Given the description of an element on the screen output the (x, y) to click on. 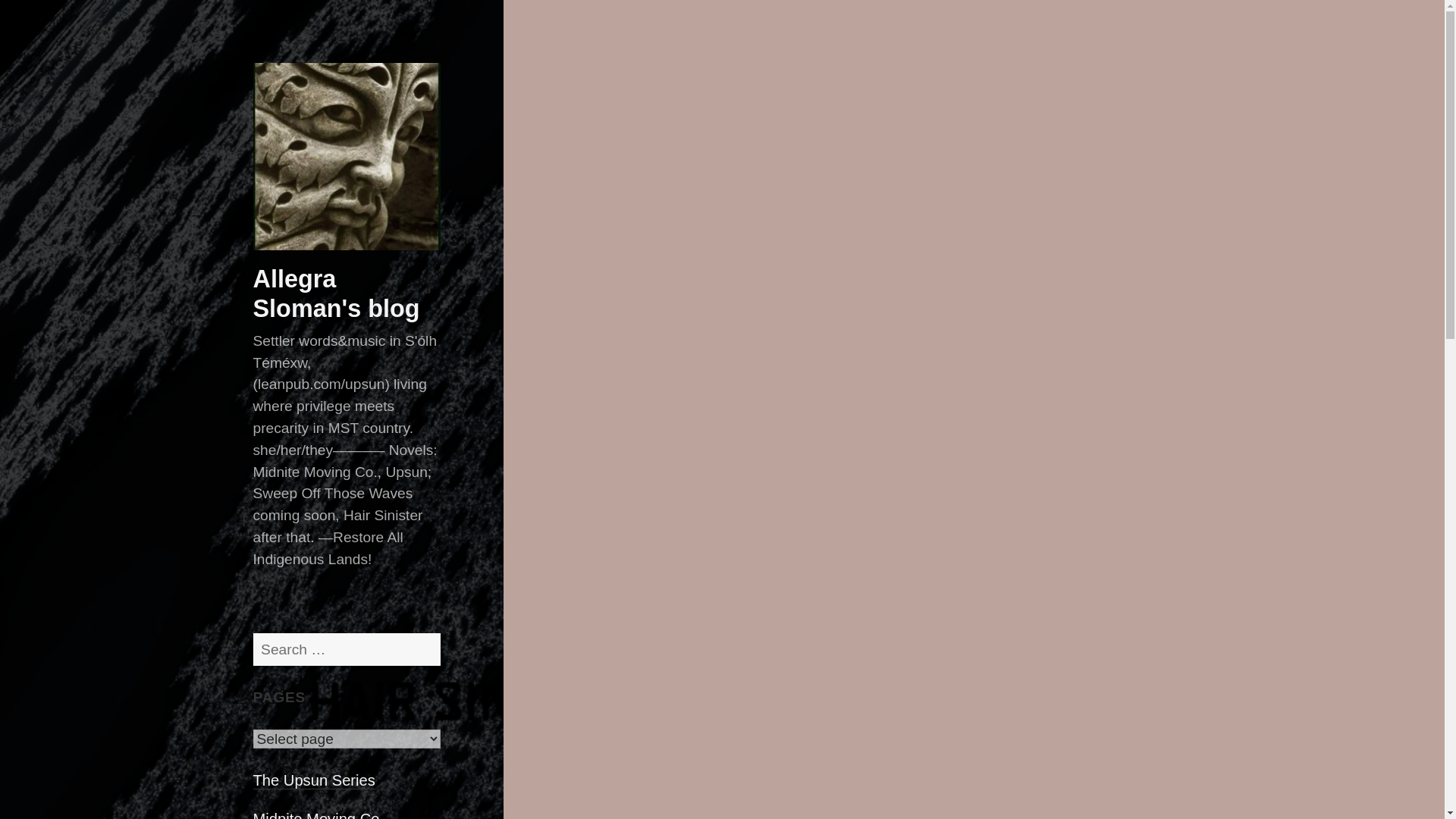
The Upsun Series (314, 781)
Midnite Moving Co (316, 815)
Allegra Sloman's blog (336, 293)
